Given the description of an element on the screen output the (x, y) to click on. 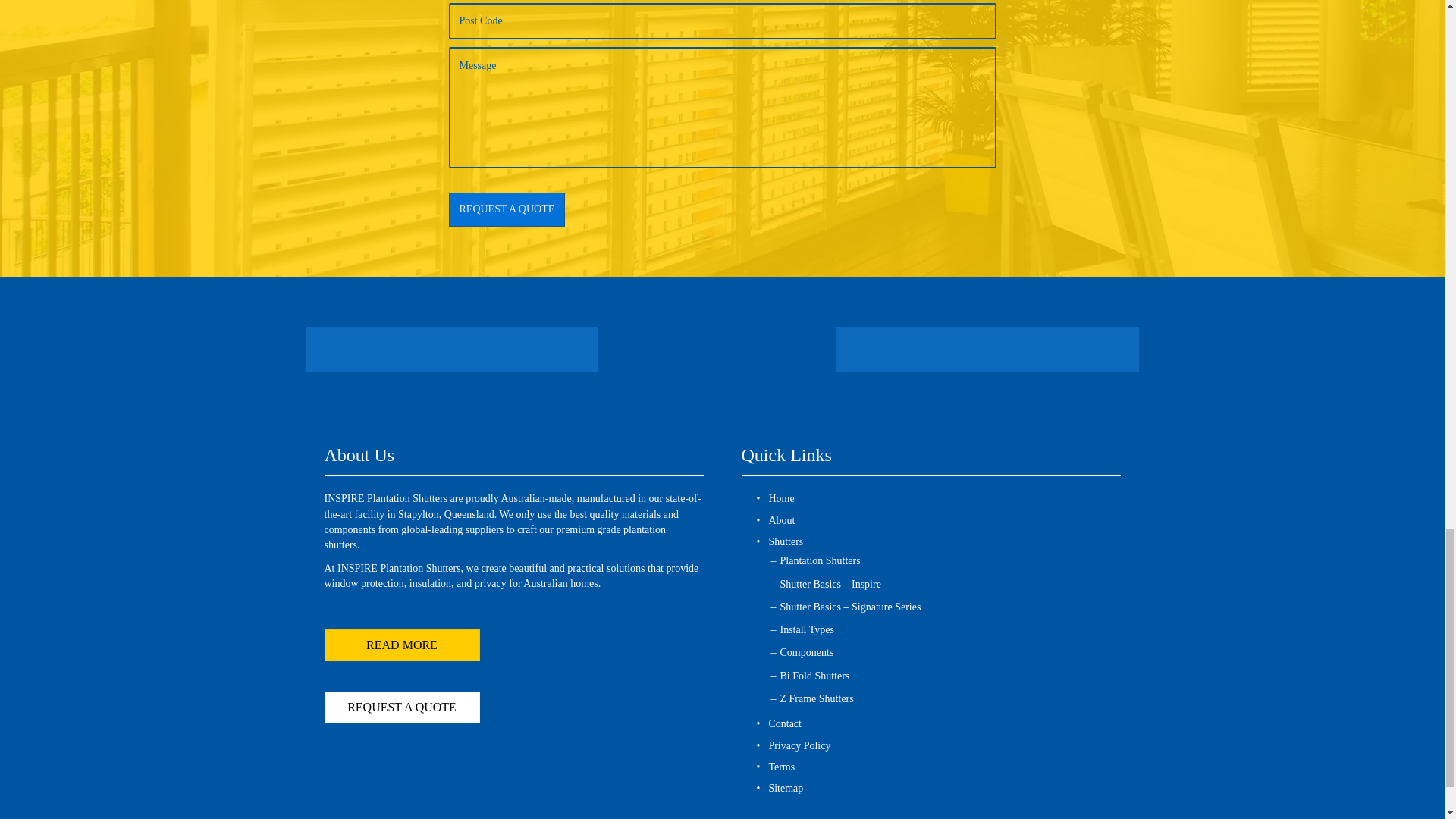
REQUEST A QUOTE (507, 209)
INSPIRE Plantation Shutters (716, 349)
